Given the description of an element on the screen output the (x, y) to click on. 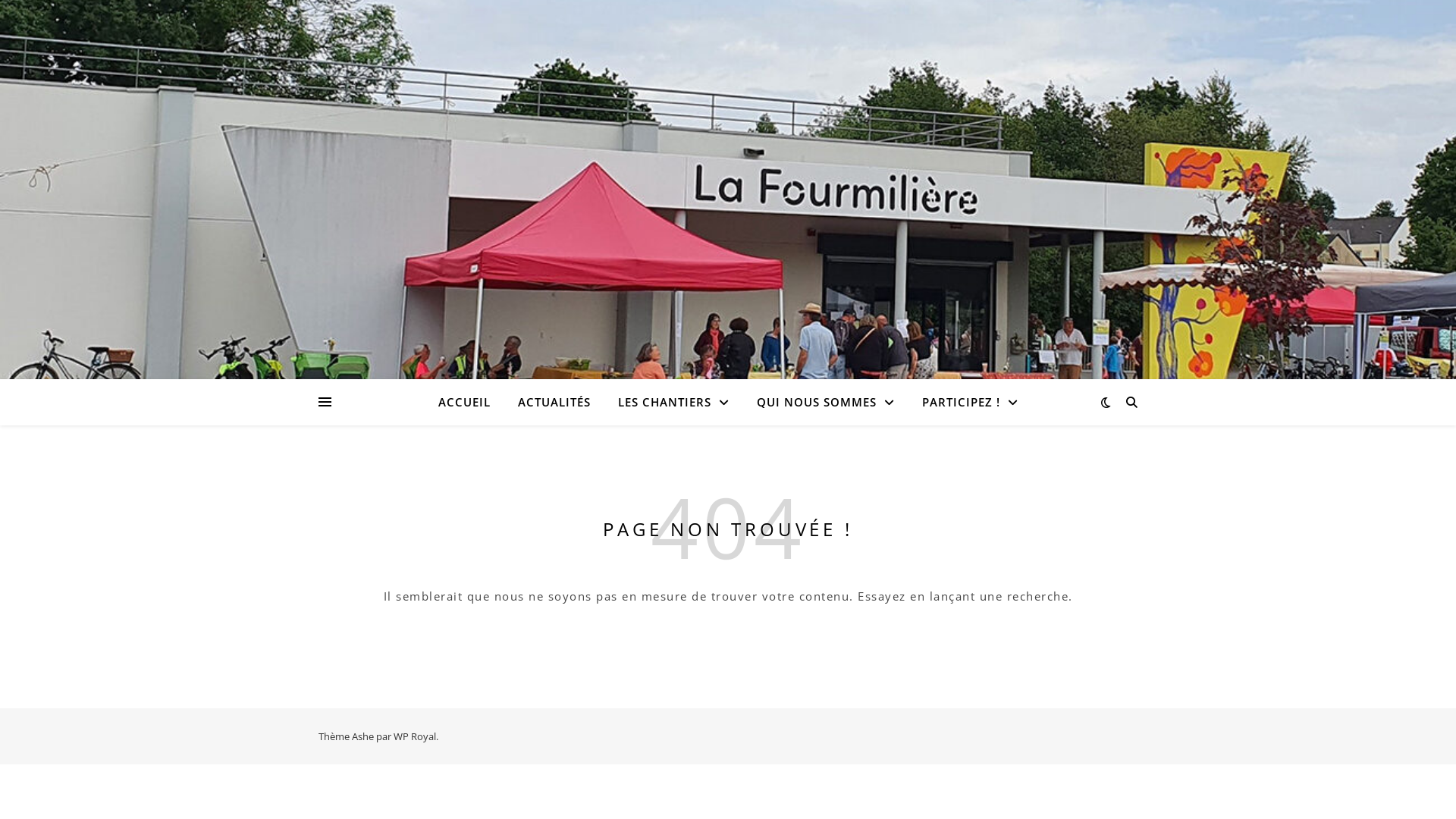
QUI NOUS SOMMES Element type: text (825, 402)
PARTICIPEZ ! Element type: text (964, 402)
ACCUEIL Element type: text (470, 401)
LES CHANTIERS Element type: text (672, 402)
WP Royal Element type: text (414, 736)
